Given the description of an element on the screen output the (x, y) to click on. 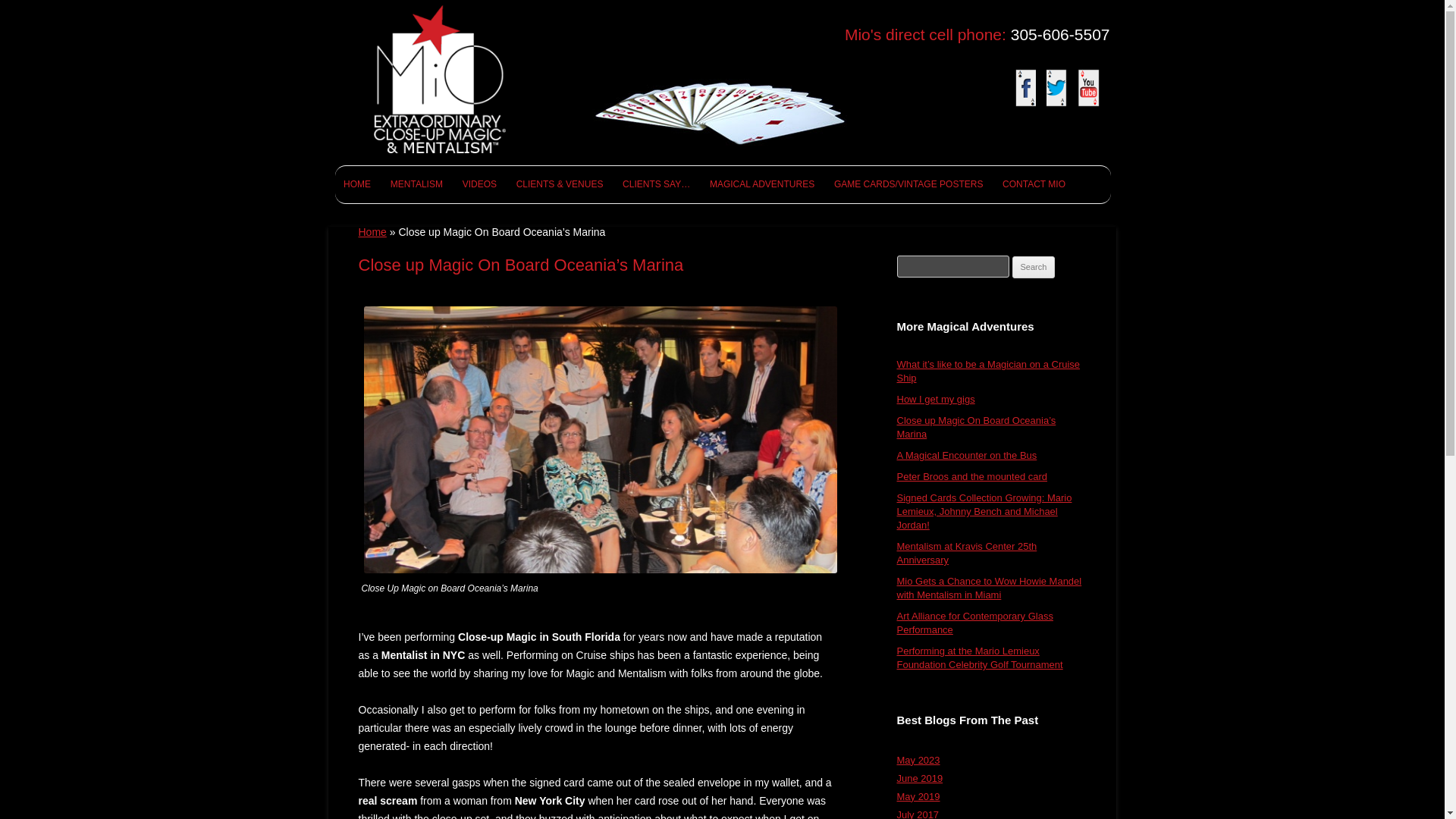
MAGICAL ADVENTURES (761, 183)
May 2019 (917, 796)
A Magical Encounter on the Bus (966, 455)
July 2017 (917, 814)
Art Alliance for Contemporary Glass Performance (974, 622)
VIDEOS (479, 183)
Search (1033, 267)
May 2023 (917, 759)
HOME (356, 183)
How I get my gigs (935, 398)
Peter Broos and the mounted card (971, 476)
